Given the description of an element on the screen output the (x, y) to click on. 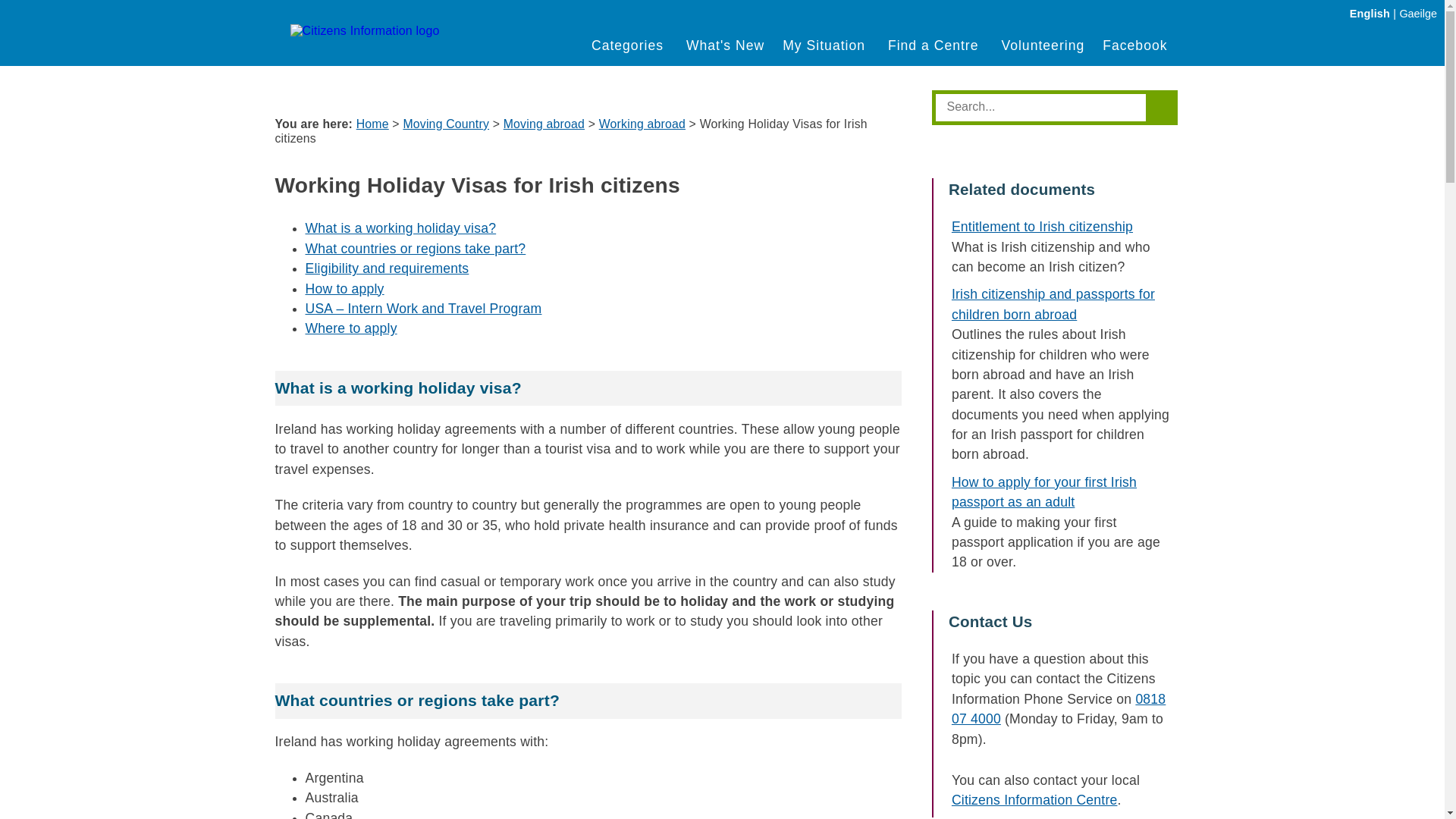
My Situation (826, 45)
Categories (629, 45)
What's New (725, 45)
Gaeilge (1418, 13)
Search (1043, 106)
